Given the description of an element on the screen output the (x, y) to click on. 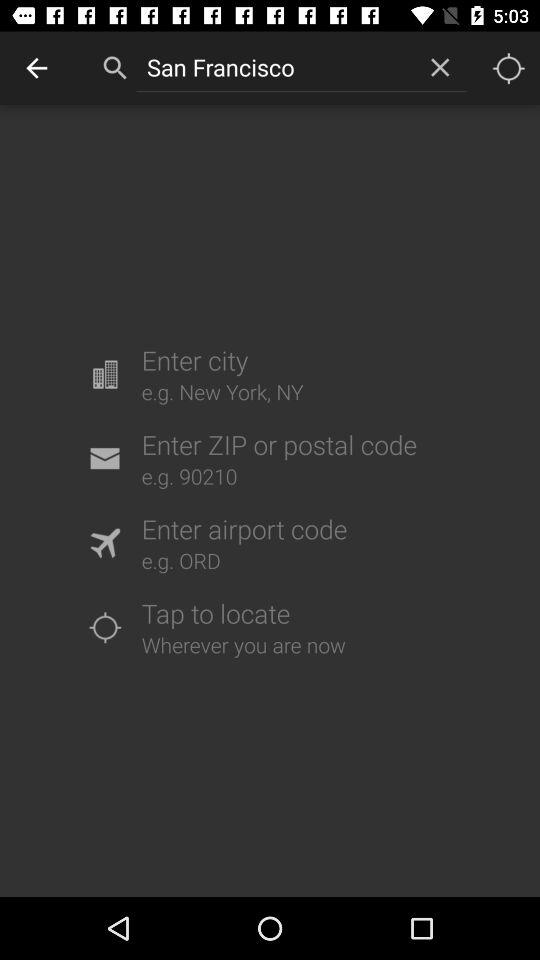
select icon above enter city icon (274, 67)
